Given the description of an element on the screen output the (x, y) to click on. 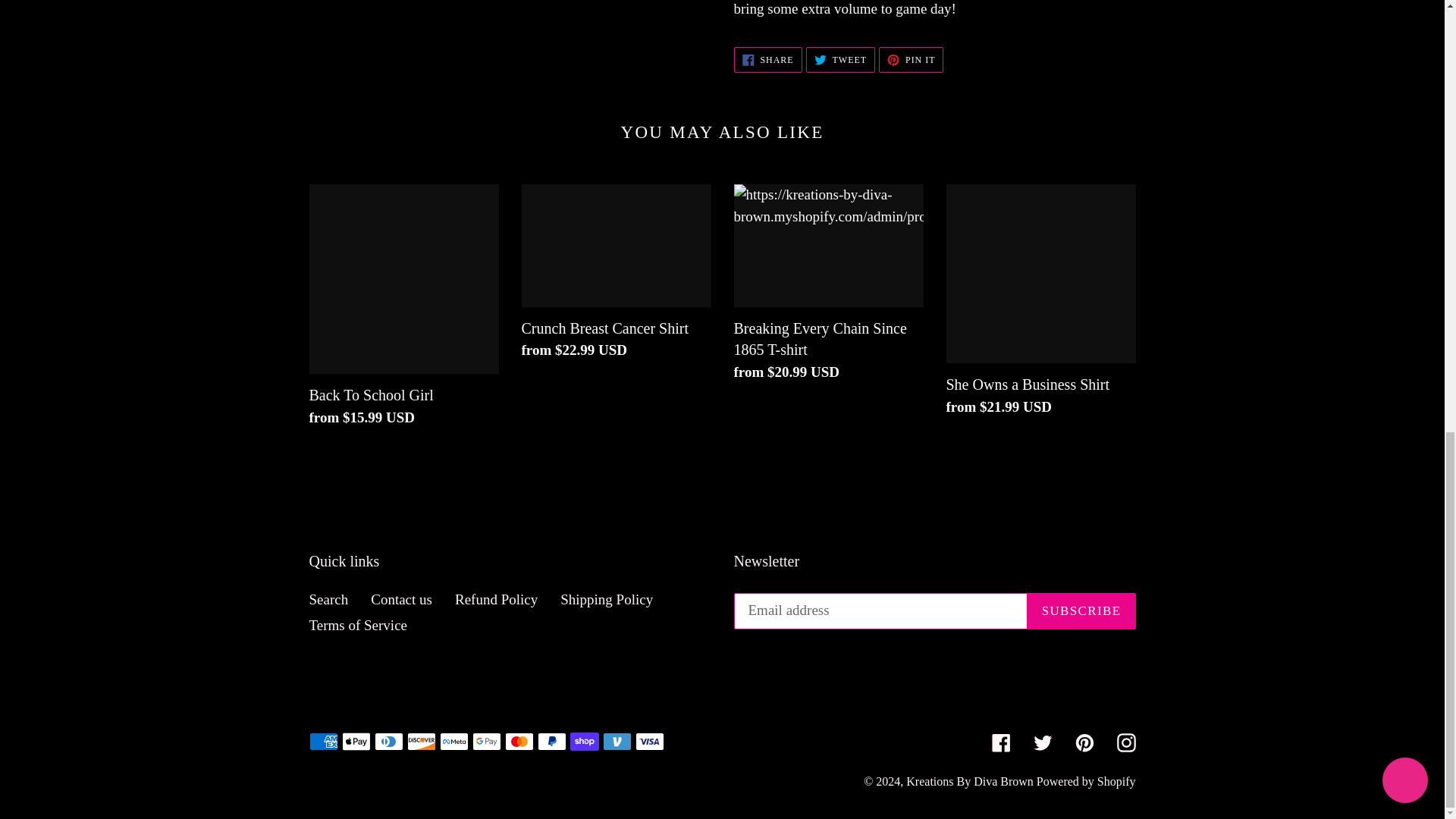
Shipping Policy (606, 599)
Crunch Breast Cancer Shirt (840, 59)
Breaking Every Chain Since 1865 T-shirt (616, 275)
SUBSCRIBE (828, 286)
Contact us (911, 59)
Refund Policy (1081, 610)
Search (401, 599)
